Given the description of an element on the screen output the (x, y) to click on. 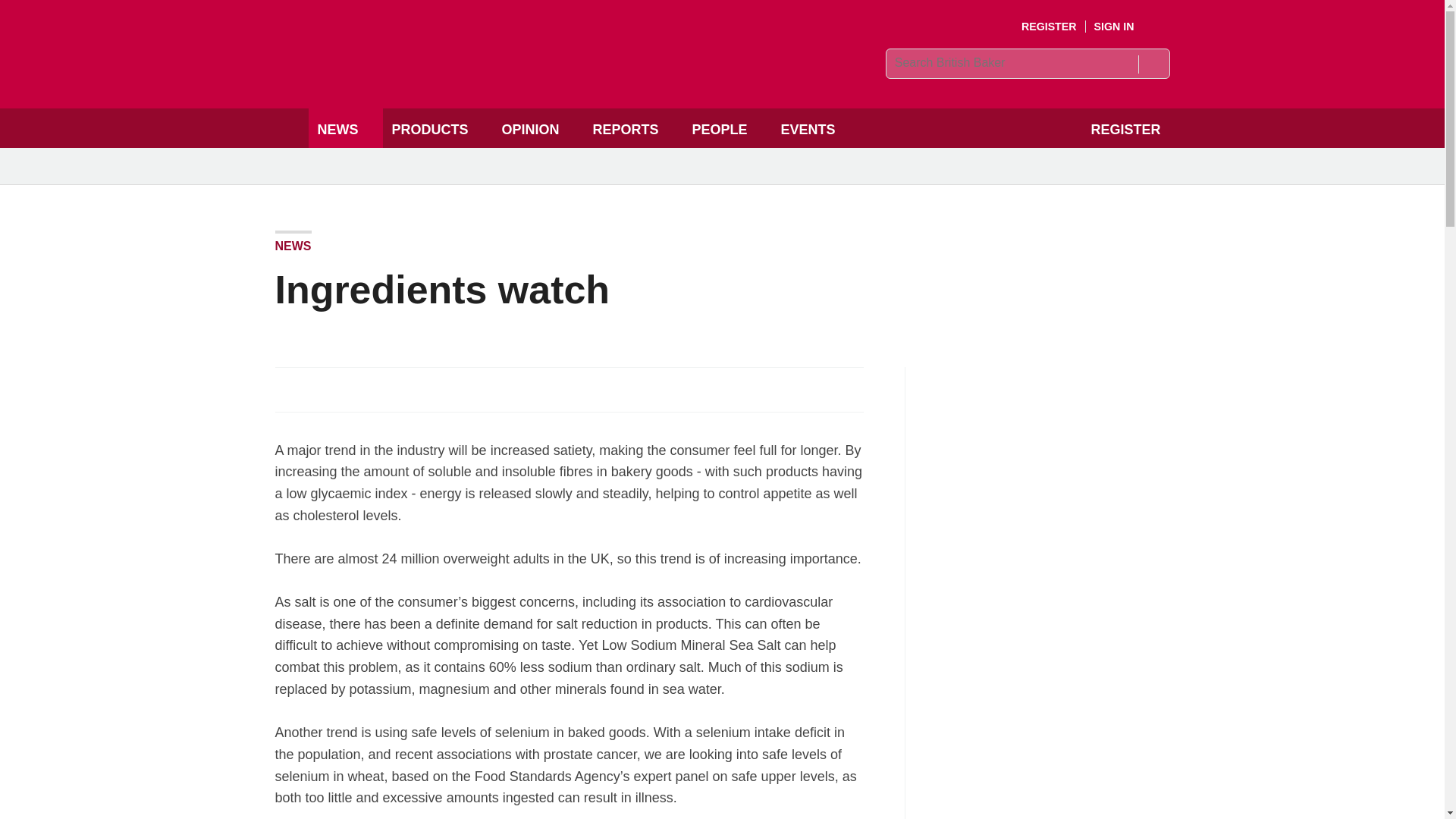
Share this on Twitter (320, 388)
Email this article (386, 388)
Share this on Facebook (288, 388)
Share this on Linked in (352, 388)
SIGN IN (1125, 26)
No comments (840, 397)
REGISTER (1049, 26)
Site name (484, 76)
SEARCH (1153, 63)
